Given the description of an element on the screen output the (x, y) to click on. 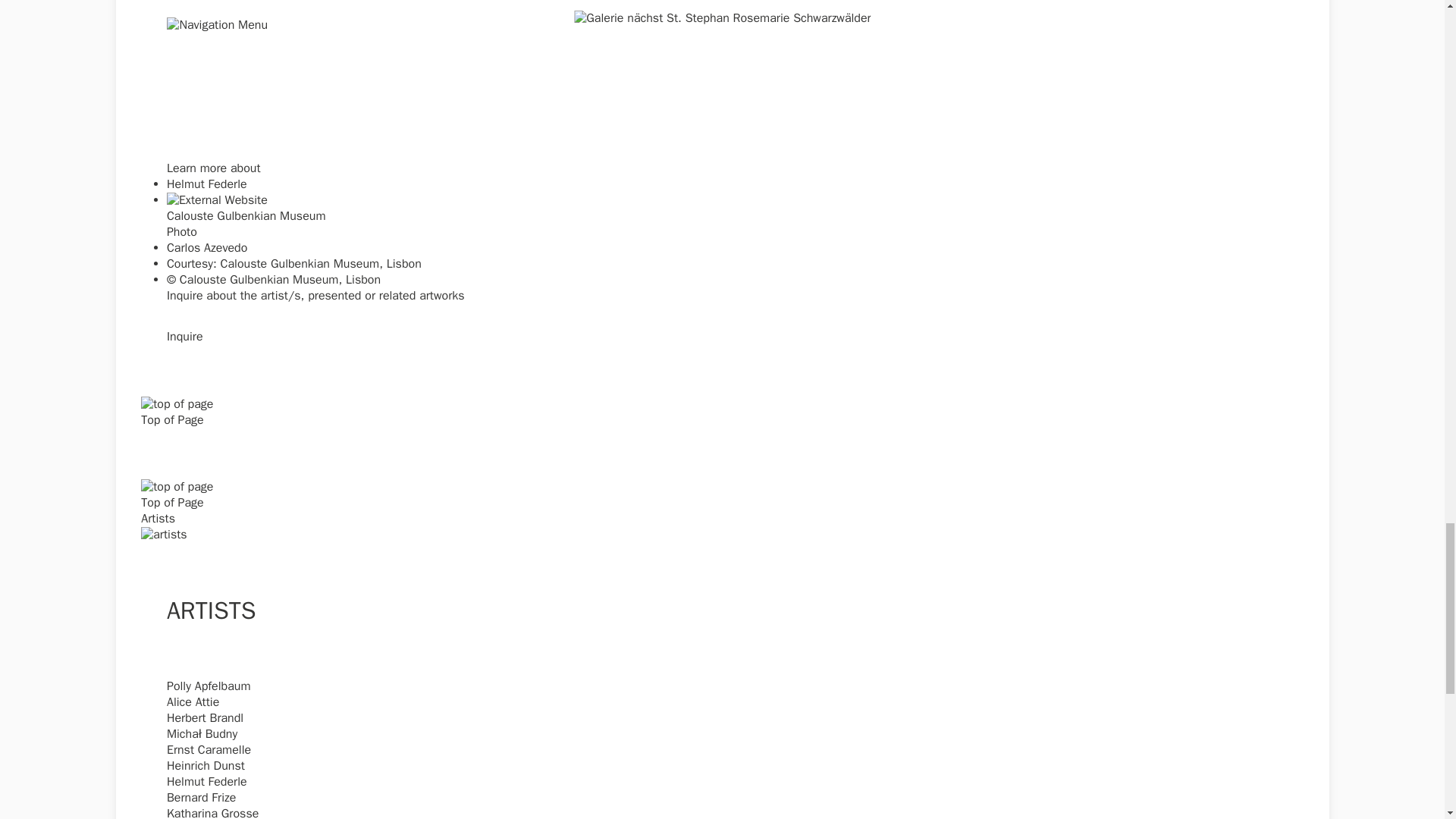
Polly Apfelbaum (208, 685)
Katharina Grosse (213, 812)
Alice Attie (193, 702)
Inquire (185, 336)
Ernst Caramelle (208, 749)
Bernard Frize (201, 797)
Helmut Federle (207, 183)
Helmut Federle (207, 781)
Heinrich Dunst (205, 765)
Herbert Brandl (205, 717)
